Given the description of an element on the screen output the (x, y) to click on. 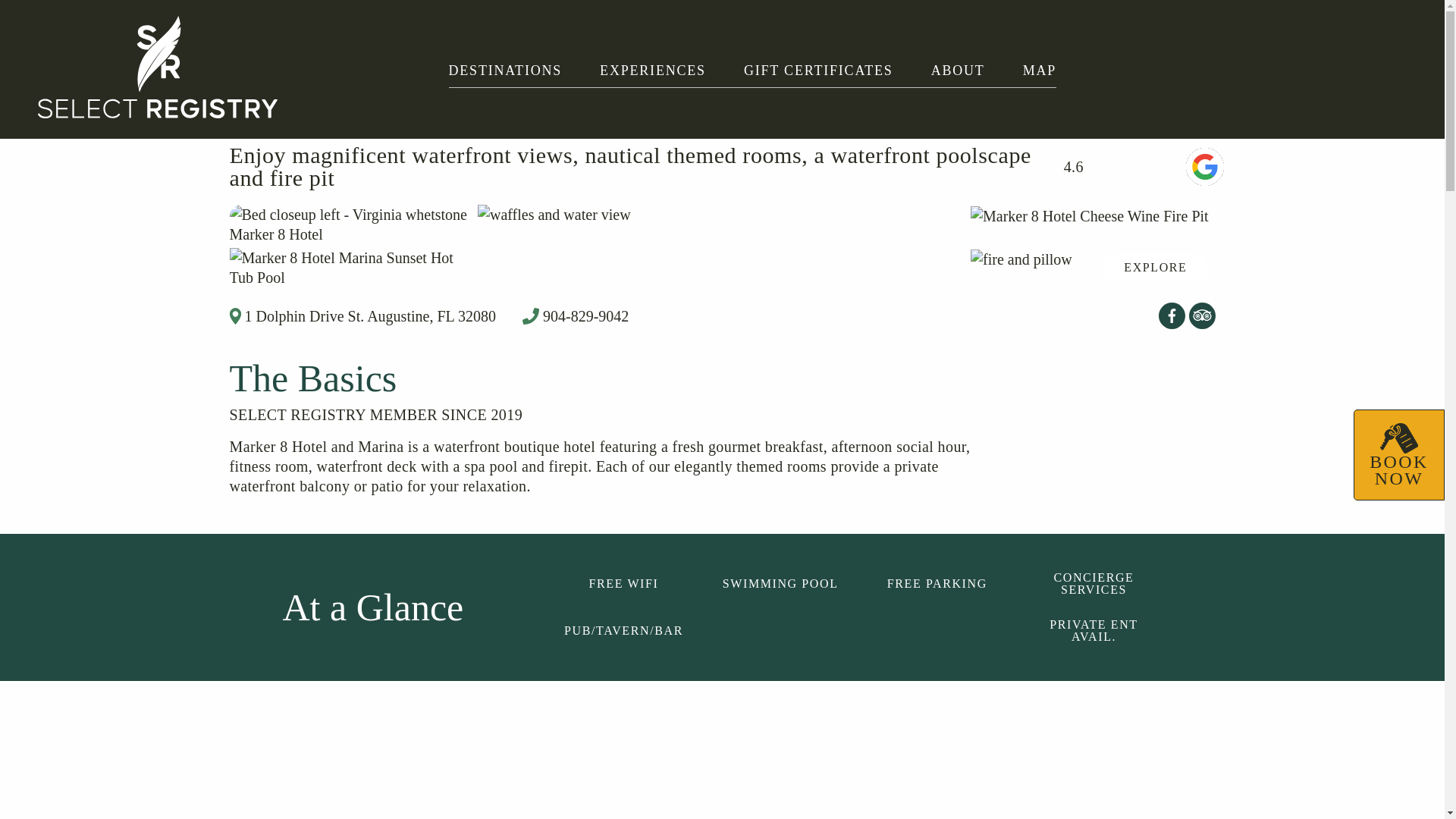
EXPERIENCES (652, 69)
GIFT CERTIFICATES (818, 69)
ABOUT (958, 69)
Add To Favorites (745, 75)
DESTINATIONS (505, 69)
Homepage for Select Registry (157, 68)
